Given the description of an element on the screen output the (x, y) to click on. 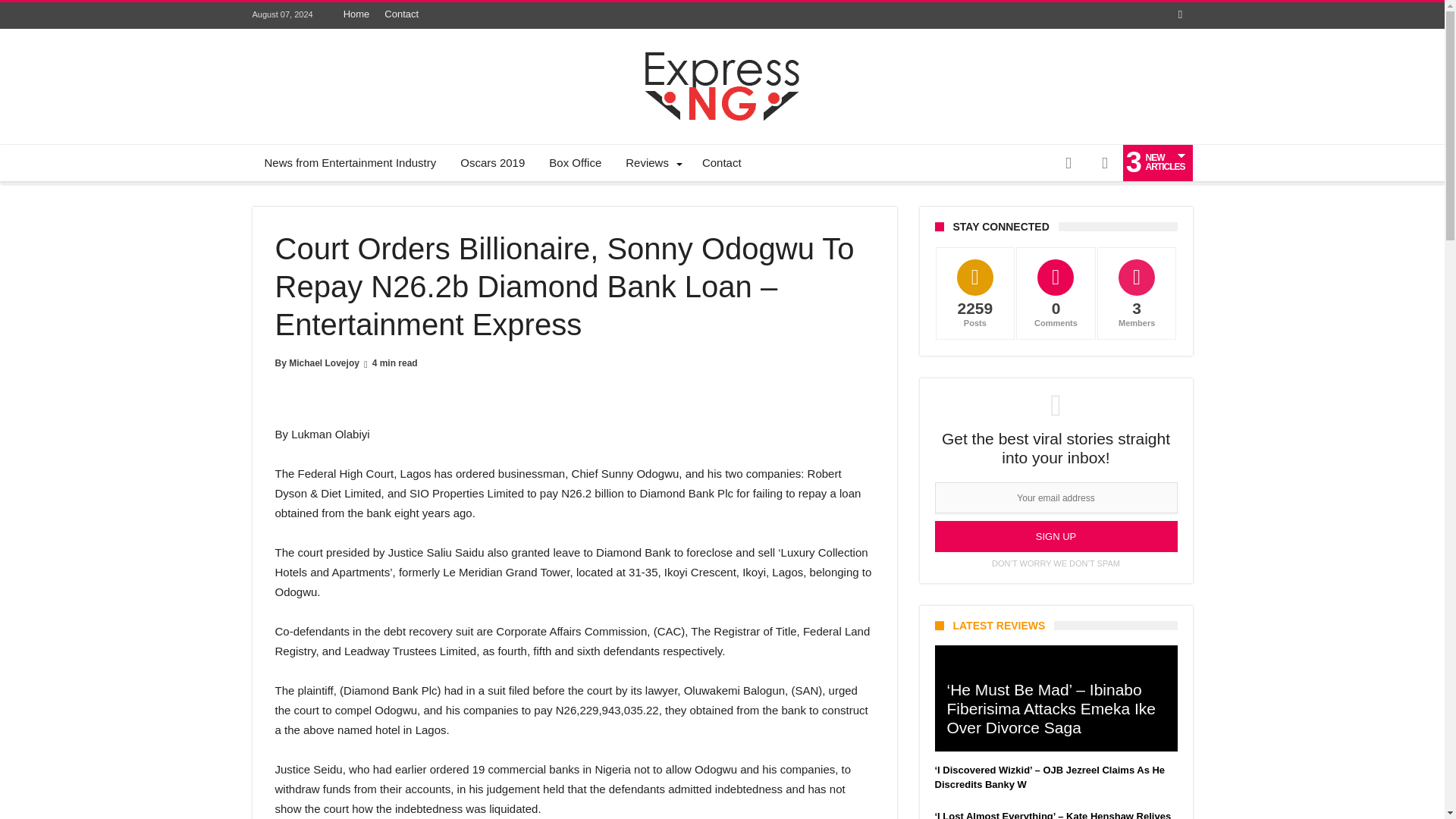
Oscars 2019 (492, 162)
Reviews (651, 162)
Contact (722, 162)
Contact (401, 14)
Facebook (1179, 15)
News from Entertainment Industry (349, 162)
Box Office (574, 162)
Home (356, 14)
Michael Lovejoy (323, 363)
Entertainment Express (722, 50)
